Given the description of an element on the screen output the (x, y) to click on. 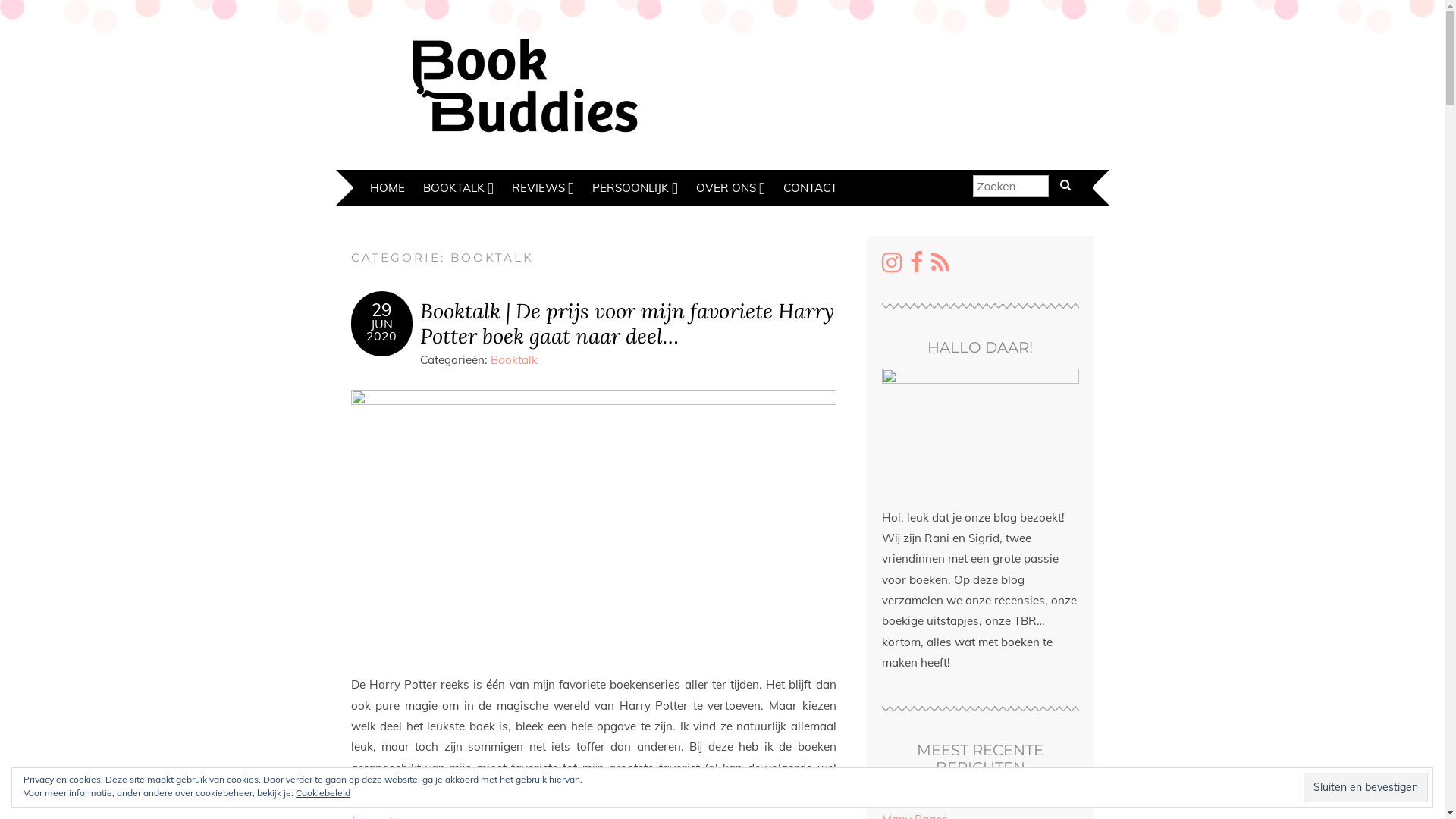
Cookiebeleid Element type: text (322, 792)
CONTACT Element type: text (809, 187)
OVER ONS Element type: text (730, 187)
BookBuddies Element type: hover (524, 83)
PERSOONLIJK Element type: text (633, 187)
Sluiten en bevestigen Element type: text (1365, 787)
29 Element type: text (381, 309)
BOOKTALK Element type: text (458, 187)
REVIEWS Element type: text (541, 187)
HOME Element type: text (387, 187)
Bezoek BookBuddies op RSS-feed Element type: hover (940, 266)
Booktalk Element type: text (512, 359)
JUN
2020 Element type: text (381, 335)
Bezoek BookBuddies op Facebook Element type: hover (916, 266)
Bezoek BookBuddies op Instagram Element type: hover (890, 266)
